Given the description of an element on the screen output the (x, y) to click on. 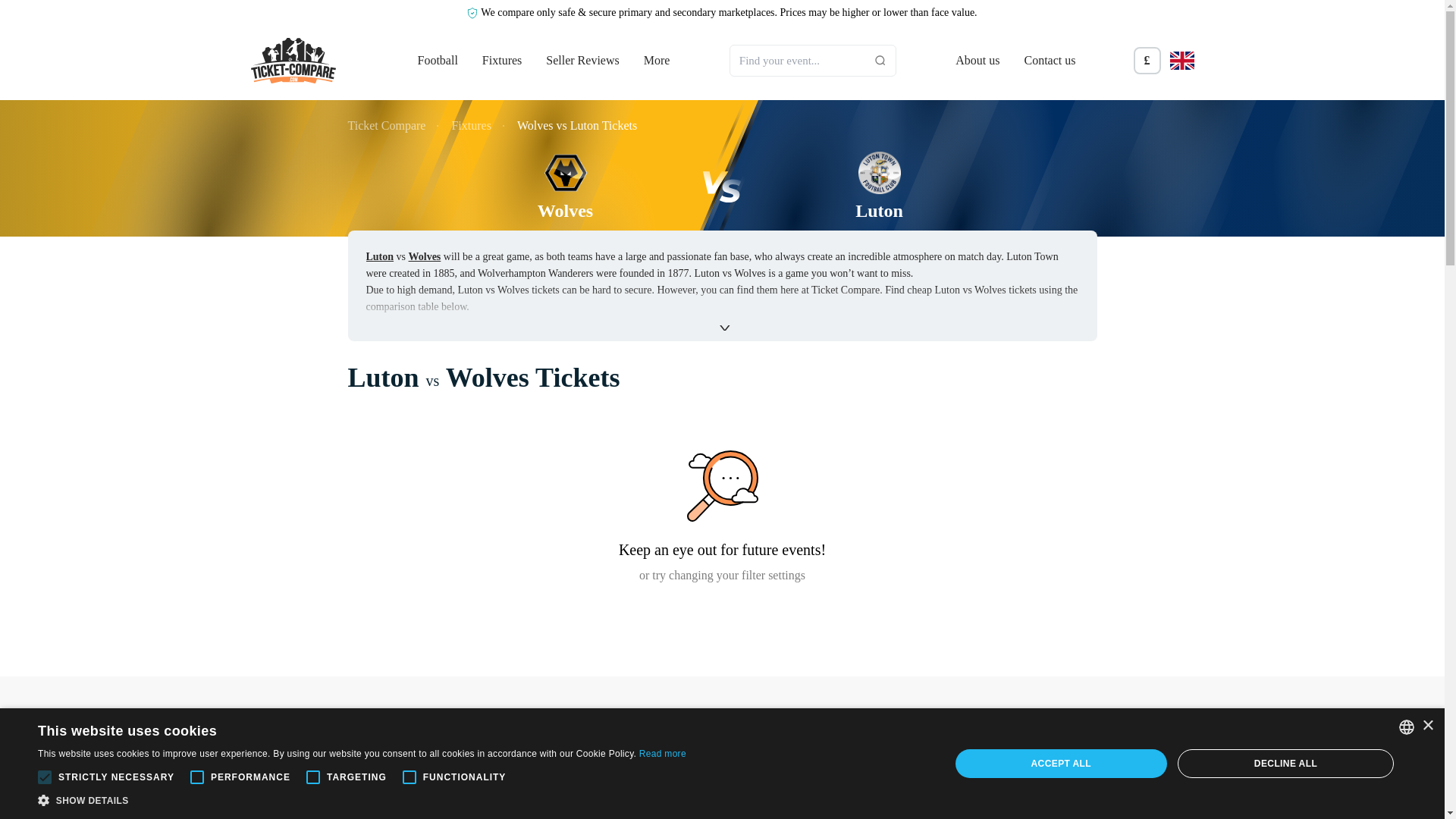
Fixtures (501, 60)
Football (436, 60)
